Given the description of an element on the screen output the (x, y) to click on. 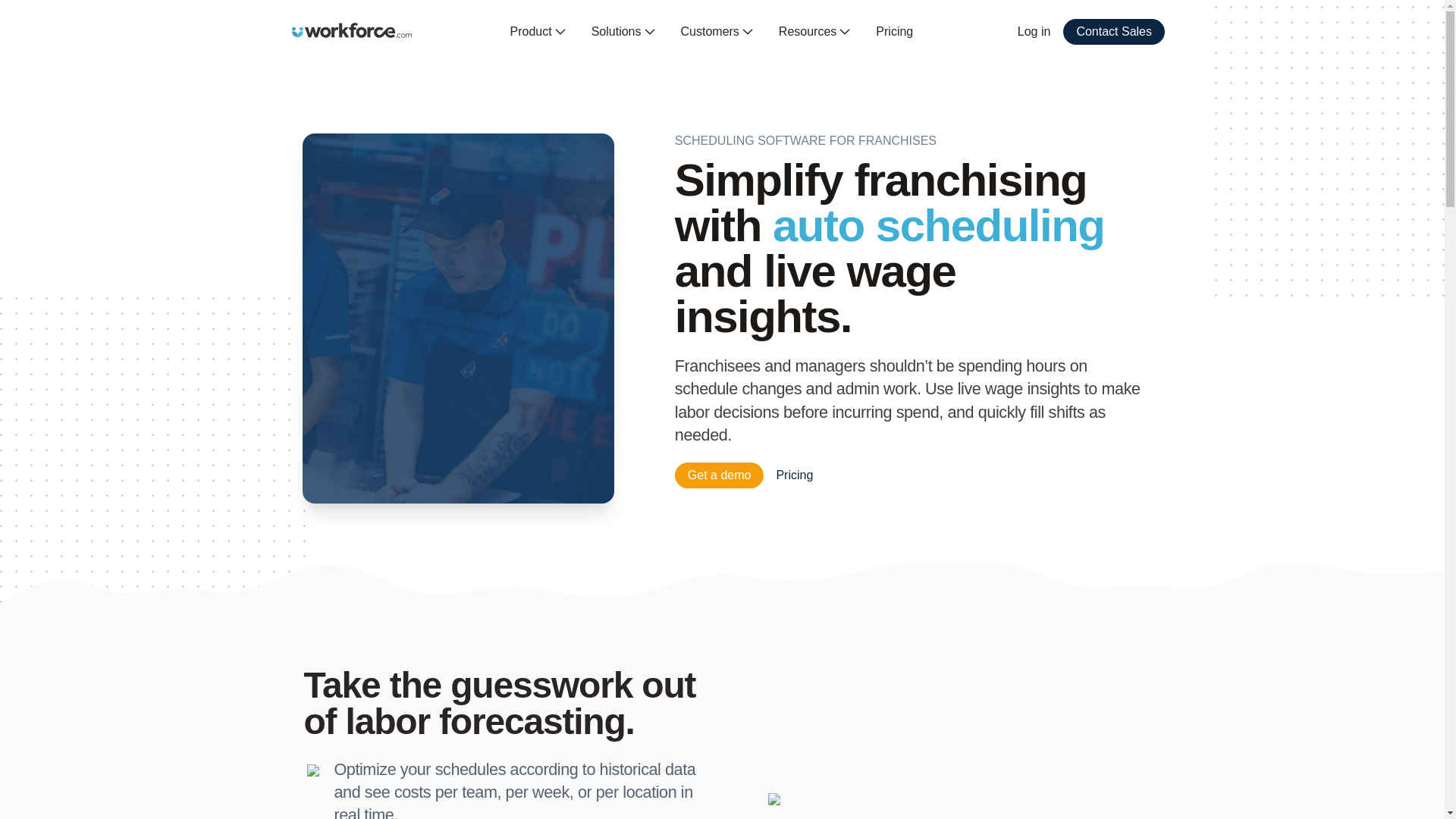
Solutions (623, 31)
Product (539, 31)
Workforce.com (351, 29)
